Given the description of an element on the screen output the (x, y) to click on. 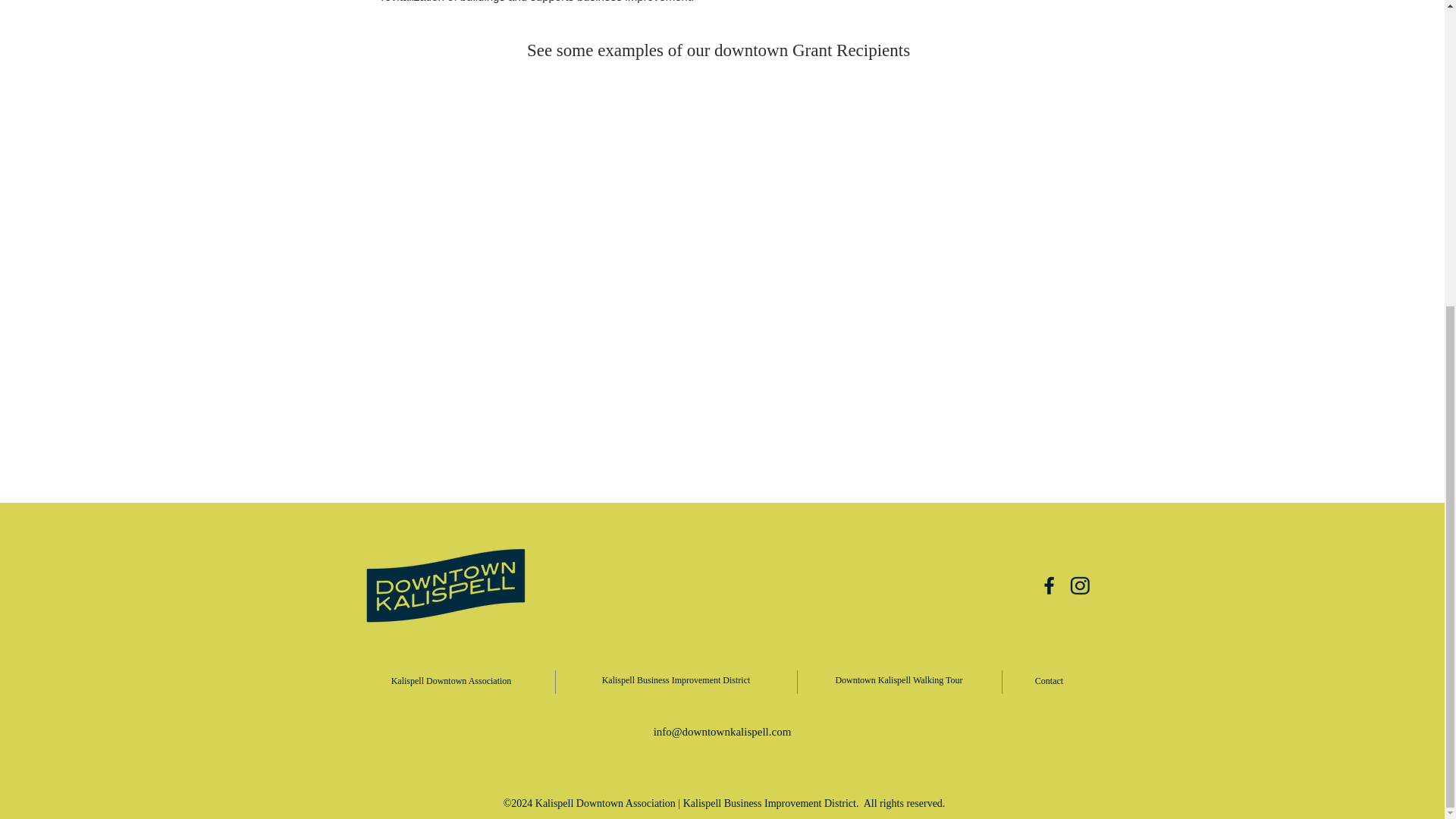
 Kalispell Downtown Association (450, 680)
Contact (1048, 680)
Kalispell Business Improvement District (676, 679)
Downtown Kalispell Walking Tour (898, 679)
